Given the description of an element on the screen output the (x, y) to click on. 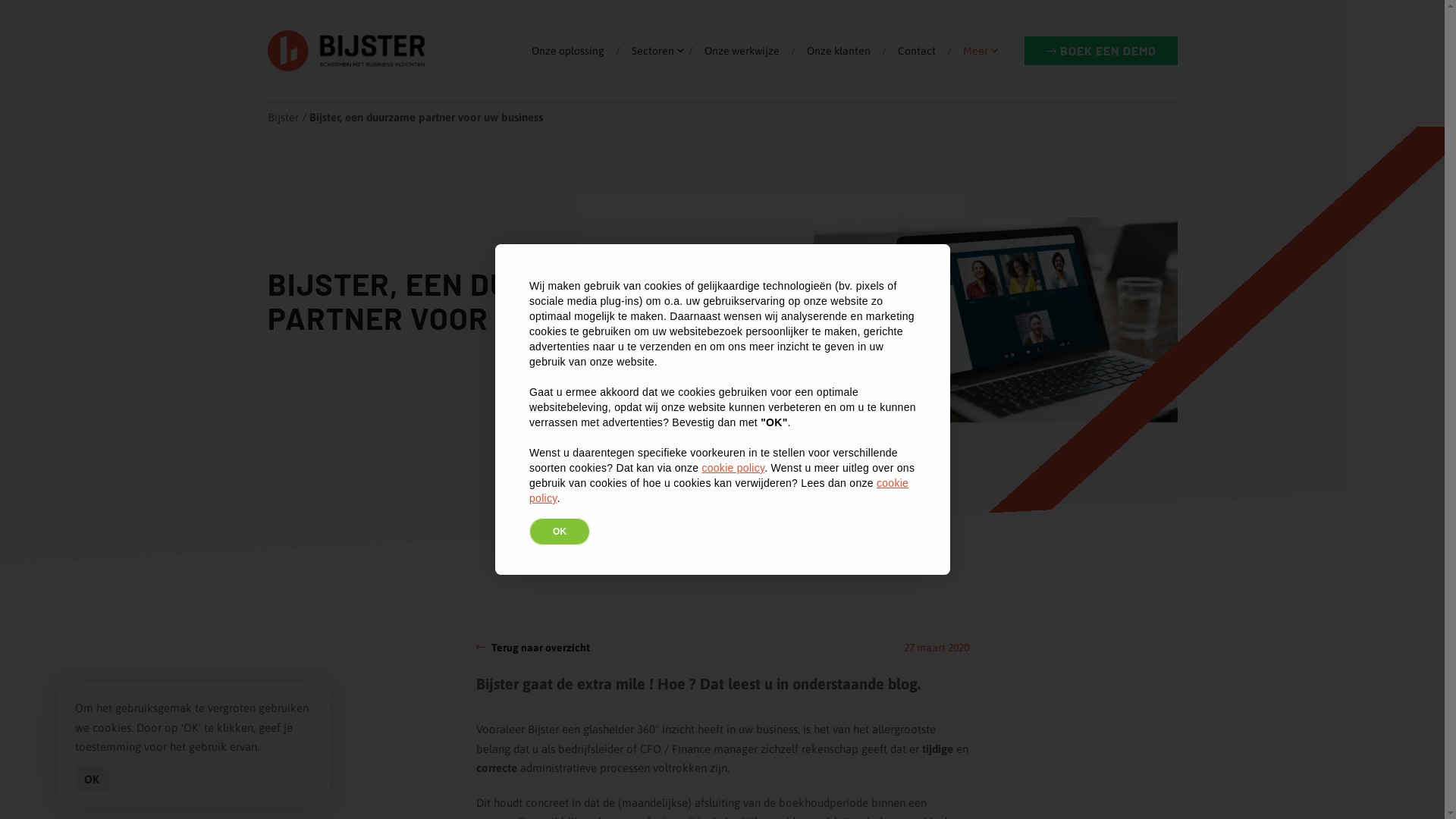
Onze werkwijze Element type: text (741, 66)
Bijster Element type: hover (344, 50)
cookie policy Element type: text (732, 467)
Terug naar overzicht Element type: text (532, 648)
Onze klanten Element type: text (837, 66)
cookie policy Element type: text (718, 490)
BOEK EEN DEMO Element type: text (1099, 50)
Contact Element type: text (915, 66)
OK Element type: text (91, 779)
Sectoren Element type: text (652, 66)
Ontdek hier meer! Element type: text (727, 466)
Onze oplossing Element type: text (572, 66)
Meer Element type: text (974, 66)
Bijster Element type: text (282, 116)
